Given the description of an element on the screen output the (x, y) to click on. 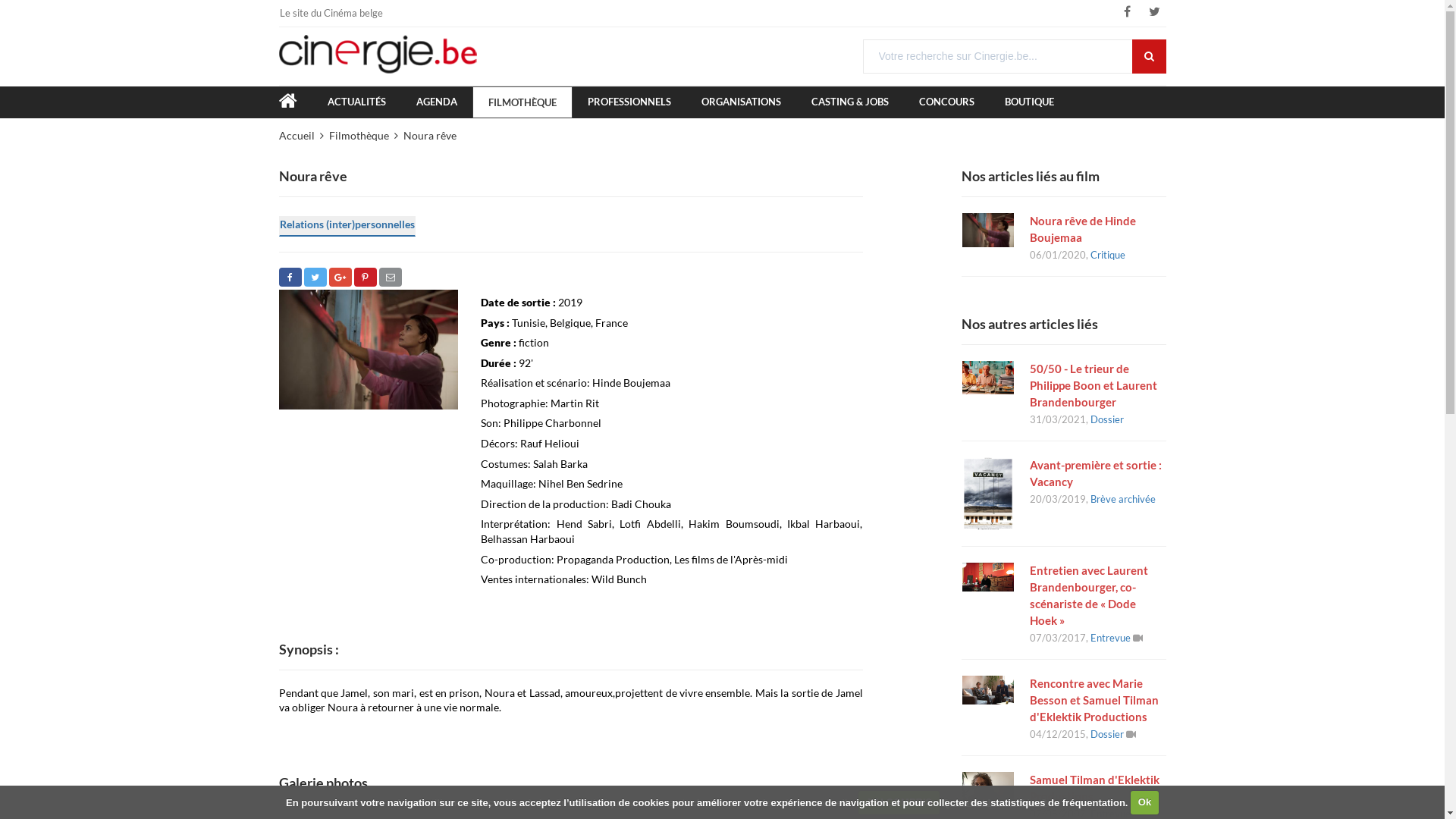
Dossier Element type: text (1106, 419)
Que sont les cookies? Element type: text (994, 801)
Entrevue Element type: text (1110, 637)
BOUTIQUE Element type: text (1028, 101)
Ok Element type: text (1144, 801)
CASTING & JOBS Element type: text (849, 101)
PROFESSIONNELS Element type: text (628, 101)
Relations (inter)personnelles Element type: text (347, 226)
50/50 - Le trieur de Philippe Boon et Laurent Brandenbourger Element type: text (1097, 385)
ORGANISATIONS Element type: text (740, 101)
Je poste Element type: hover (340, 276)
Je partage Element type: hover (290, 276)
Critique Element type: text (1107, 254)
Je tweete Element type: hover (314, 276)
Samuel Tilman d'Eklektik Productions Element type: text (1097, 787)
AGENDA Element type: text (435, 101)
Accueil Element type: text (301, 135)
J'AI COMPRIS Element type: text (898, 801)
Dossier Element type: text (1106, 734)
J'envoie Element type: hover (390, 276)
CONCOURS Element type: text (946, 101)
